Given the description of an element on the screen output the (x, y) to click on. 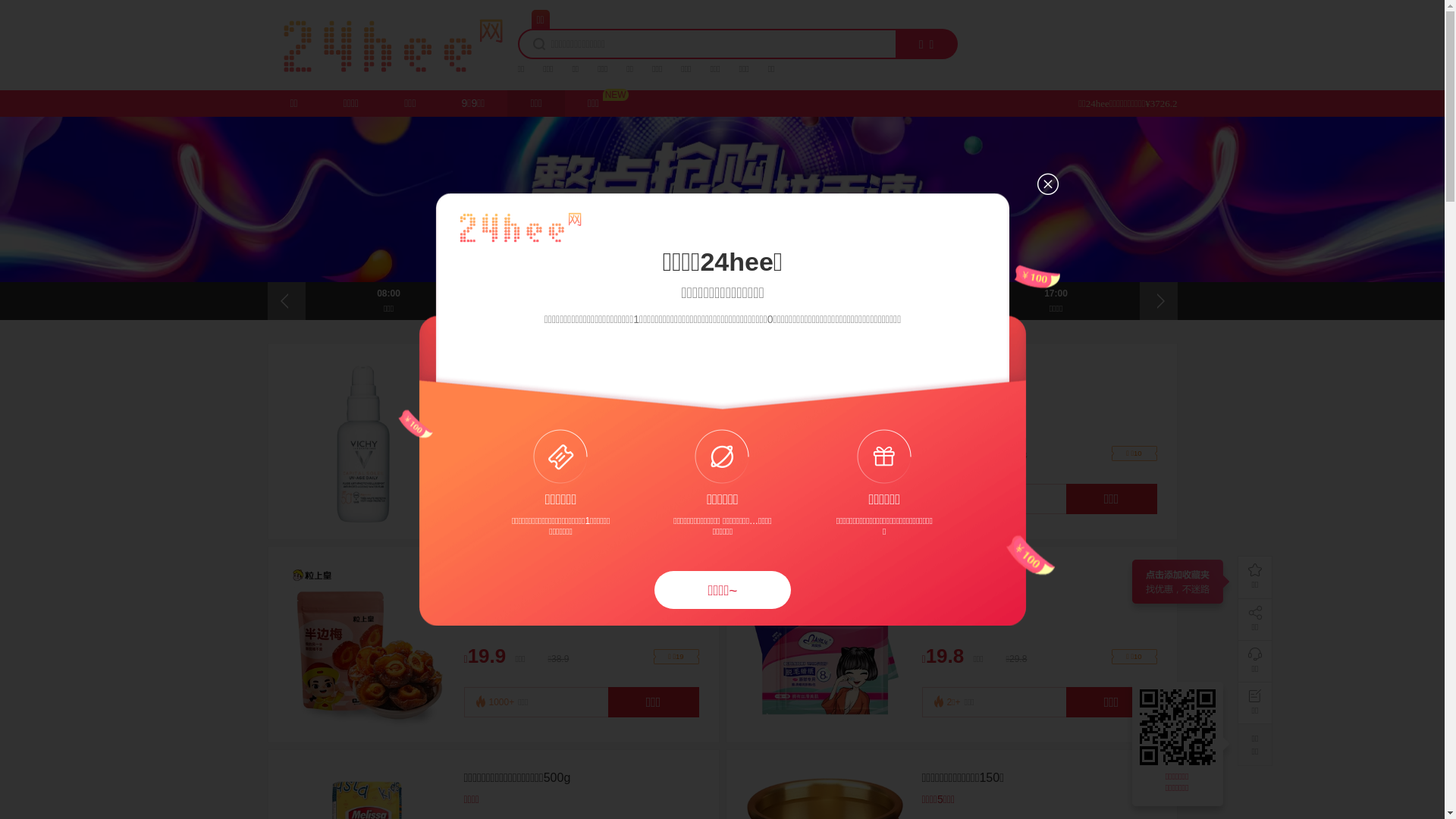
https://24hee.com Element type: hover (1179, 727)
